Given the description of an element on the screen output the (x, y) to click on. 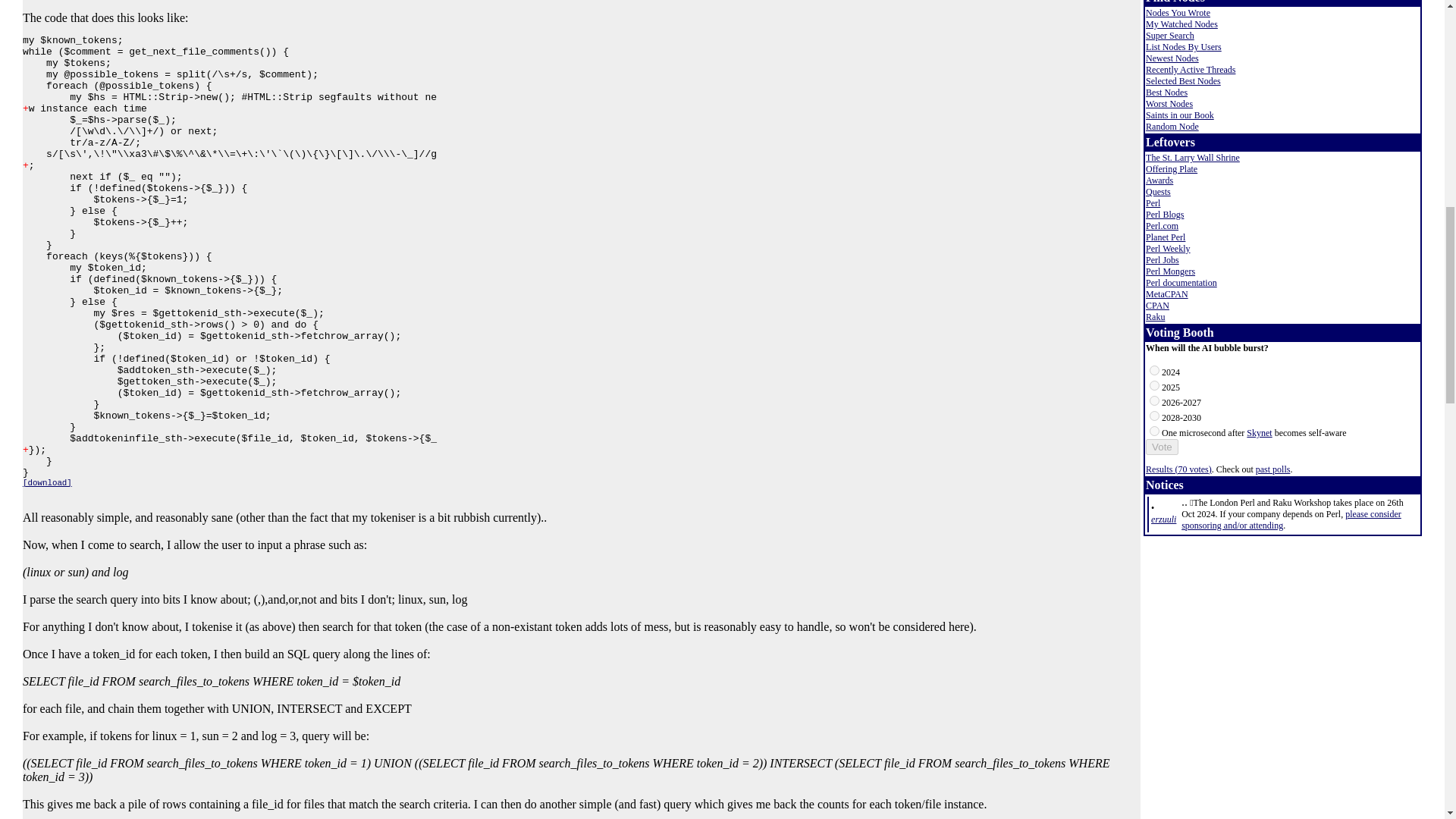
Vote (1161, 446)
2 (1154, 400)
1 (1154, 385)
3 (1154, 415)
4 (1154, 430)
2024-05-30 14:23:36 (1163, 519)
0 (1154, 370)
